Given the description of an element on the screen output the (x, y) to click on. 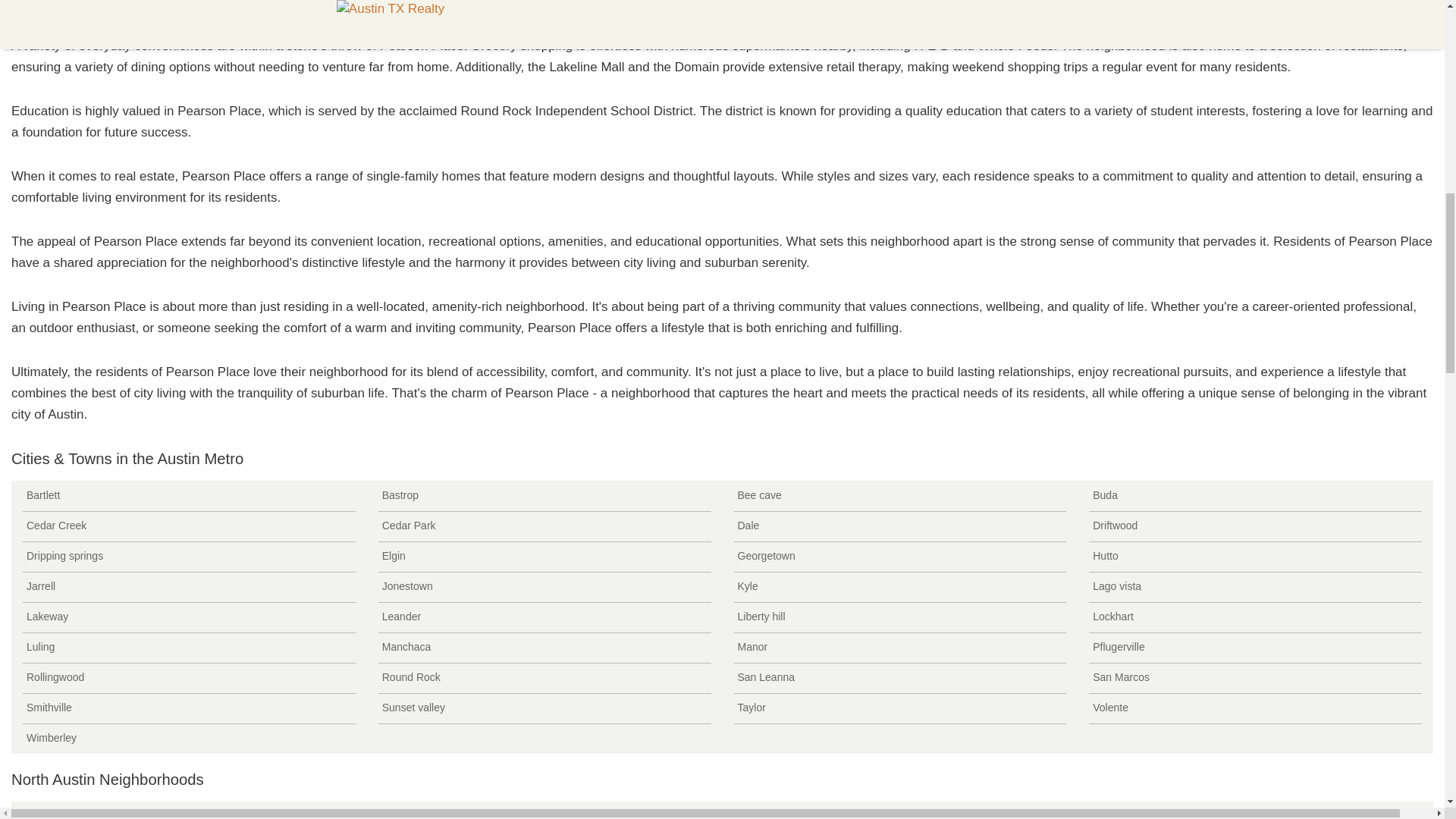
View Bastrop (544, 495)
View Bartlett (189, 495)
View Bee cave (900, 495)
View Cedar Creek (189, 526)
View Buda (1255, 495)
